Given the description of an element on the screen output the (x, y) to click on. 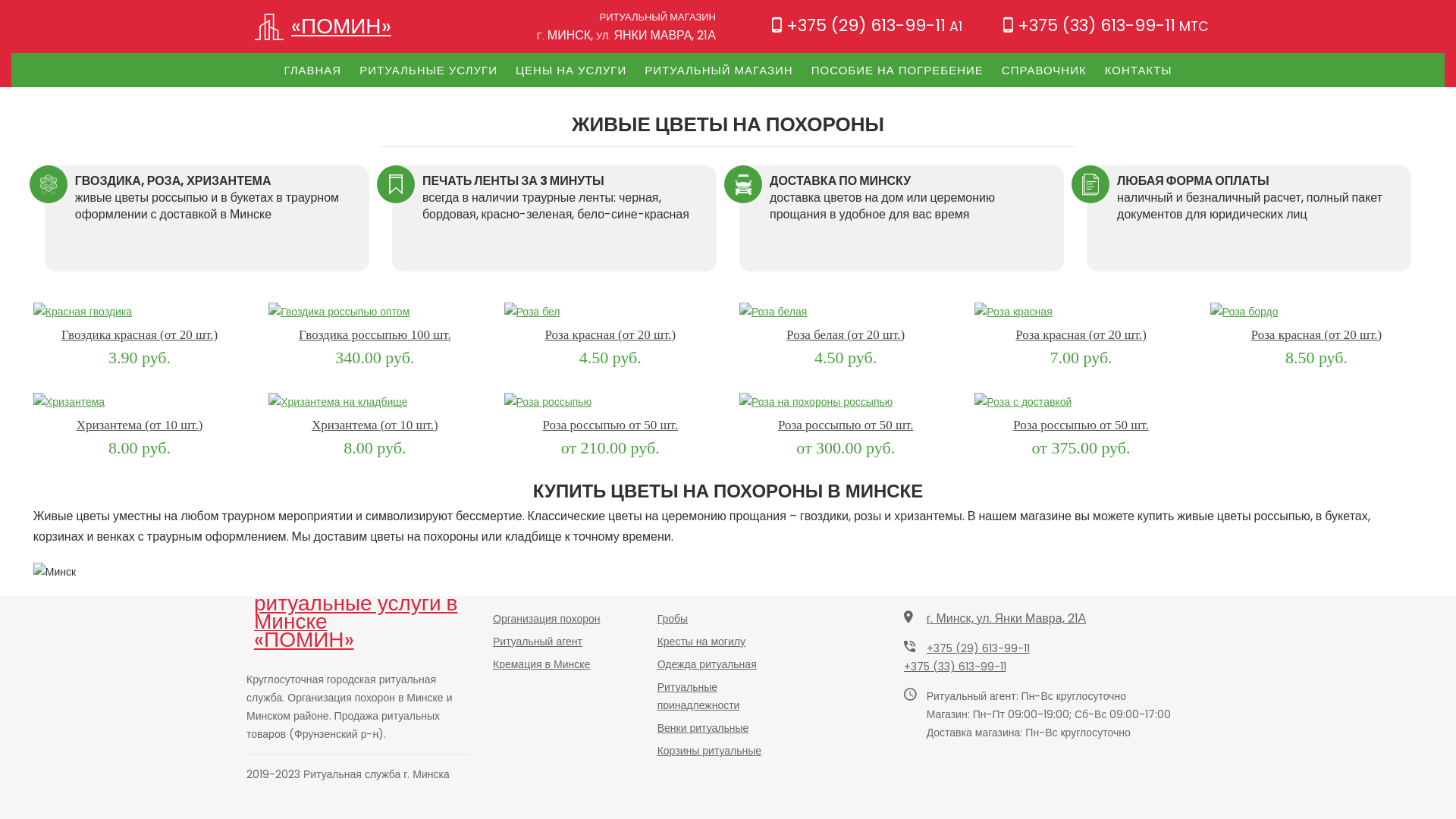
+375 (29) 613-99-11 A1 Element type: text (866, 25)
+375 (33) 613-99-11 Element type: text (954, 666)
+375 (29) 613-99-11 Element type: text (977, 647)
+375 (33) 613-99-11 MTC Element type: text (1105, 25)
